Given the description of an element on the screen output the (x, y) to click on. 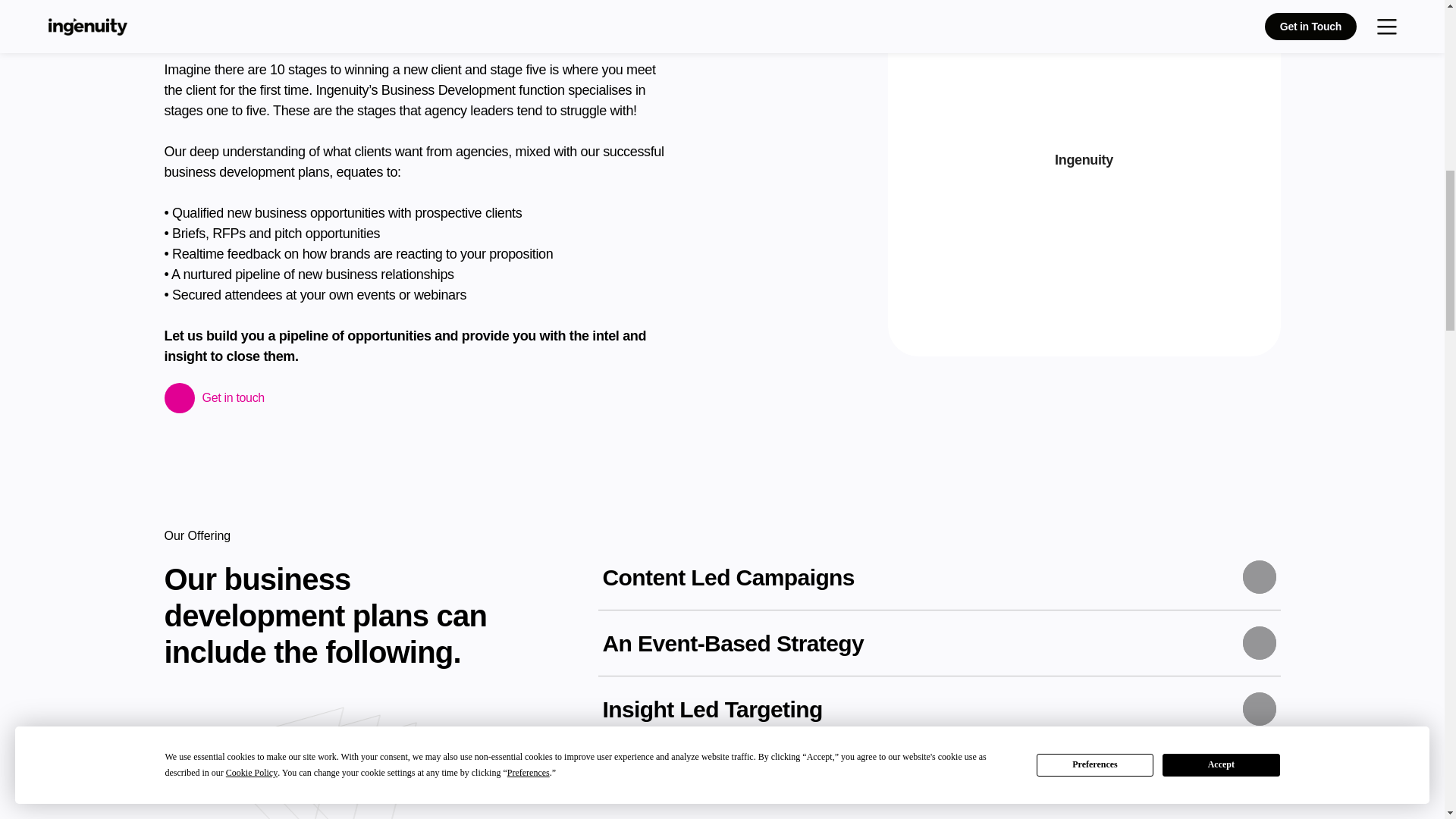
Get in touch (219, 397)
An Event-Based Strategy (937, 650)
Content Led Campaigns (937, 584)
Insight Led Targeting (937, 716)
